Given the description of an element on the screen output the (x, y) to click on. 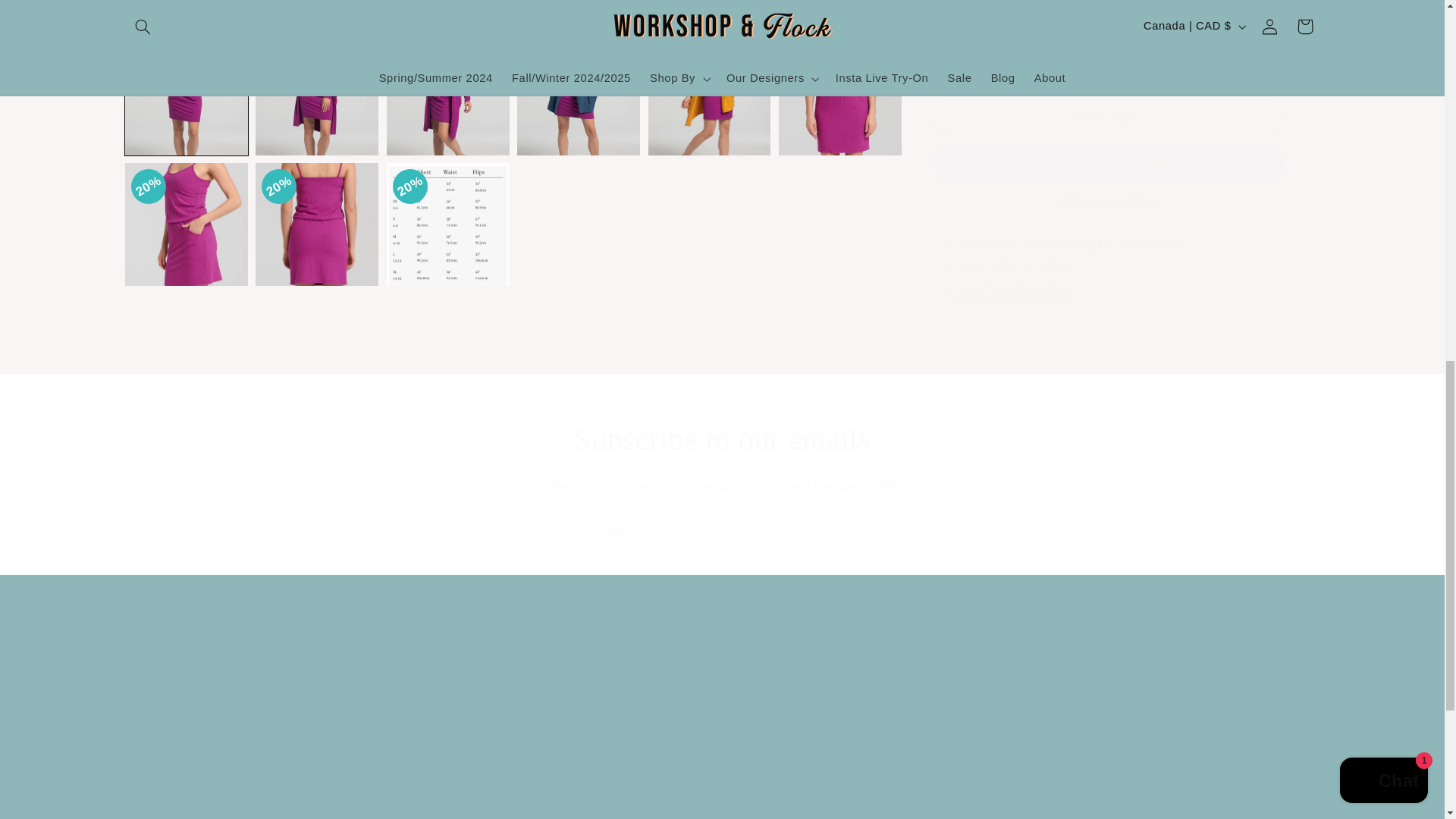
Email (722, 532)
Subscribe to our emails (722, 439)
